Given the description of an element on the screen output the (x, y) to click on. 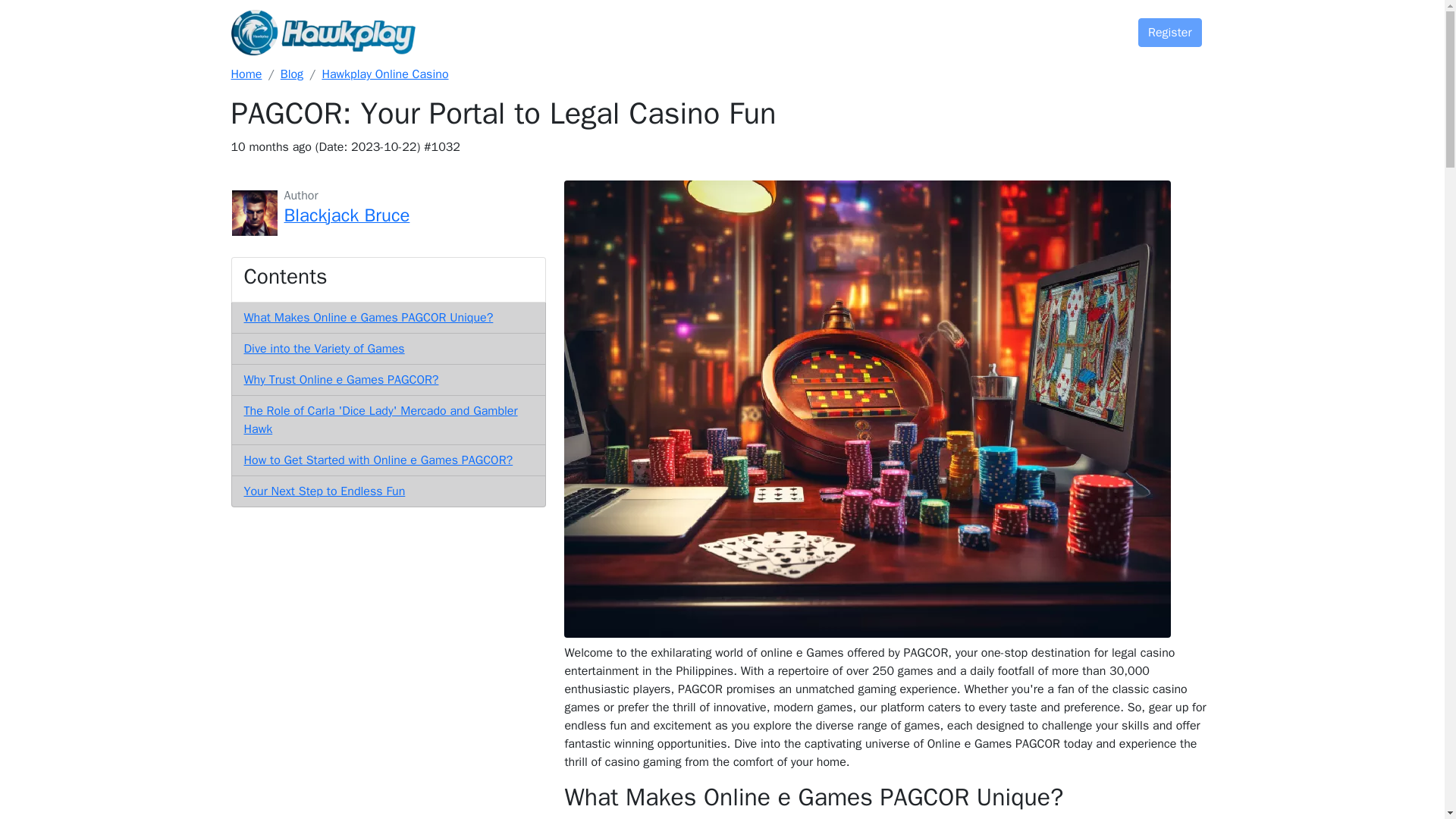
Blackjack Bruce (346, 217)
What Makes Online e Games PAGCOR Unique? (368, 317)
Blog (960, 27)
The Role of Carla 'Dice Lady' Mercado and Gambler Hawk (381, 419)
The Role of Carla  (381, 419)
Your Next Step to Endless Fun (325, 491)
How to Get Started with Online e Games PAGCOR? (378, 459)
Dive into the Variety of Games (324, 348)
Hawkplay Blog - hawkplay online casino (384, 73)
Register (1170, 32)
